Given the description of an element on the screen output the (x, y) to click on. 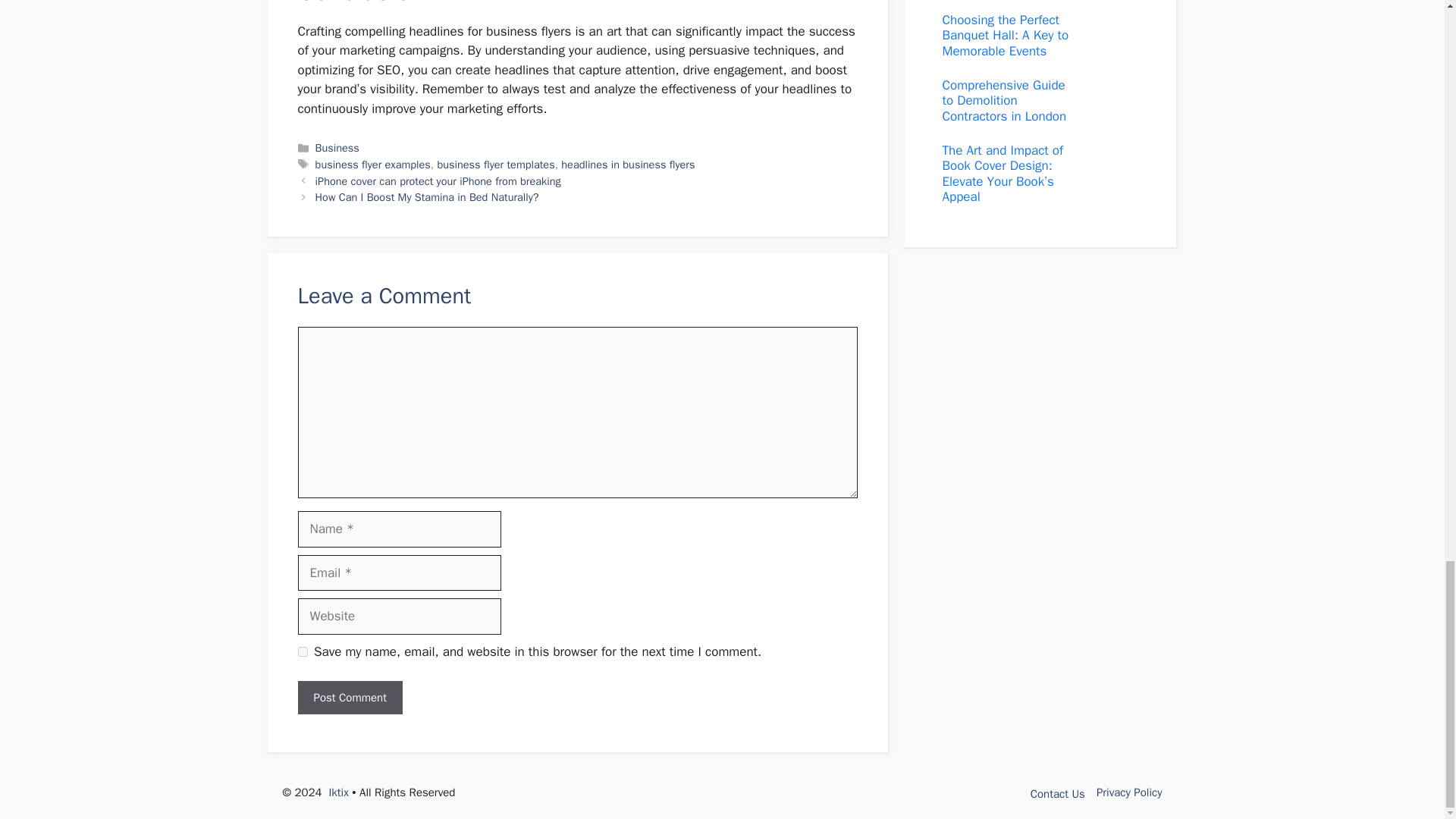
yes (302, 651)
business flyer examples (372, 164)
Business (337, 147)
Post Comment (349, 697)
Post Comment (349, 697)
headlines in business flyers (627, 164)
How Can I Boost My Stamina in Bed Naturally? (426, 196)
iPhone cover can protect your iPhone from breaking (437, 181)
business flyer templates (496, 164)
